Given the description of an element on the screen output the (x, y) to click on. 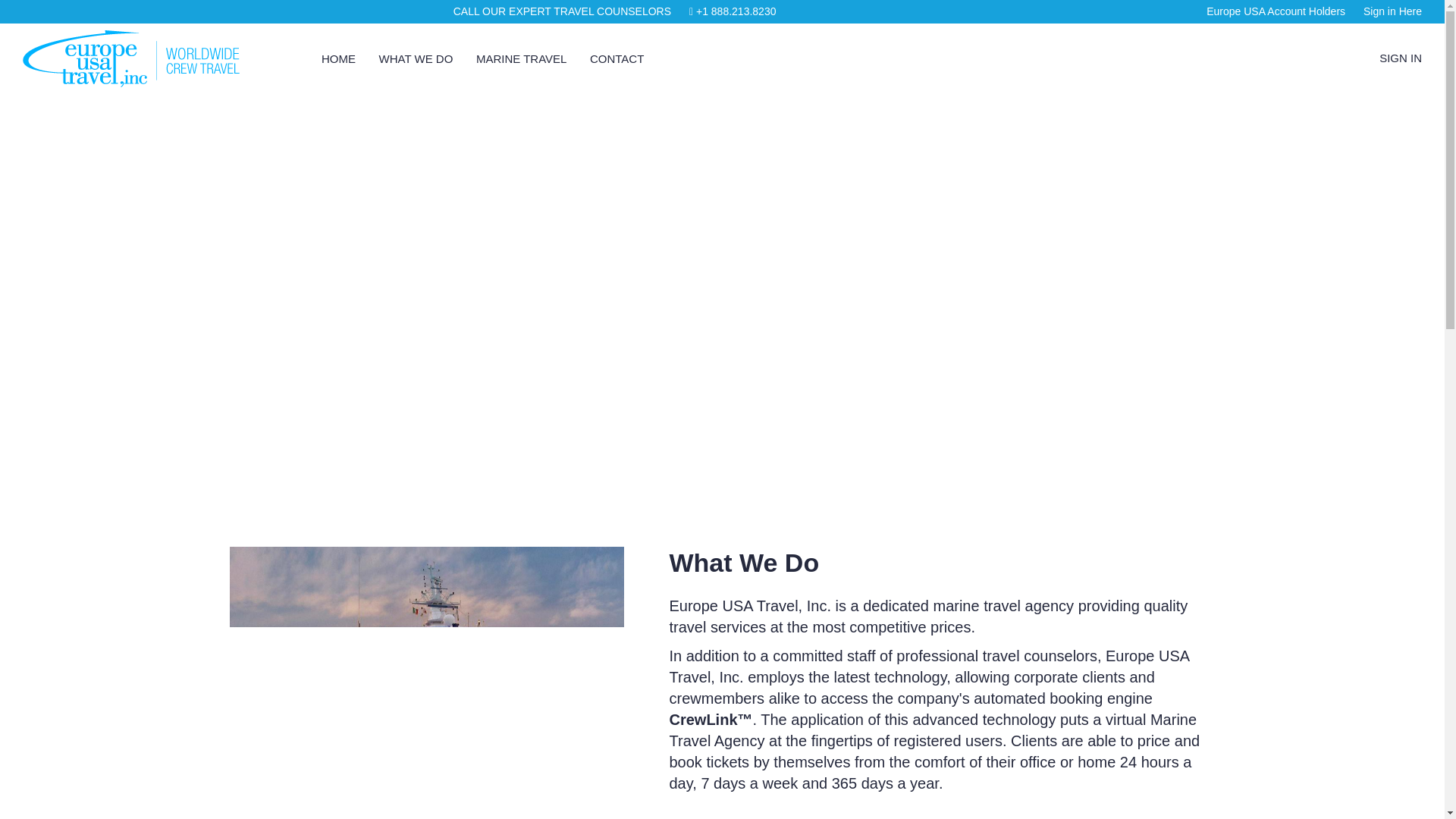
MARINE TRAVEL (511, 58)
Sign in Here (1392, 10)
HOME (328, 58)
WHAT WE DO (405, 58)
Europe USA Travel (136, 57)
CONTACT (606, 58)
SIGN IN (1400, 57)
